Given the description of an element on the screen output the (x, y) to click on. 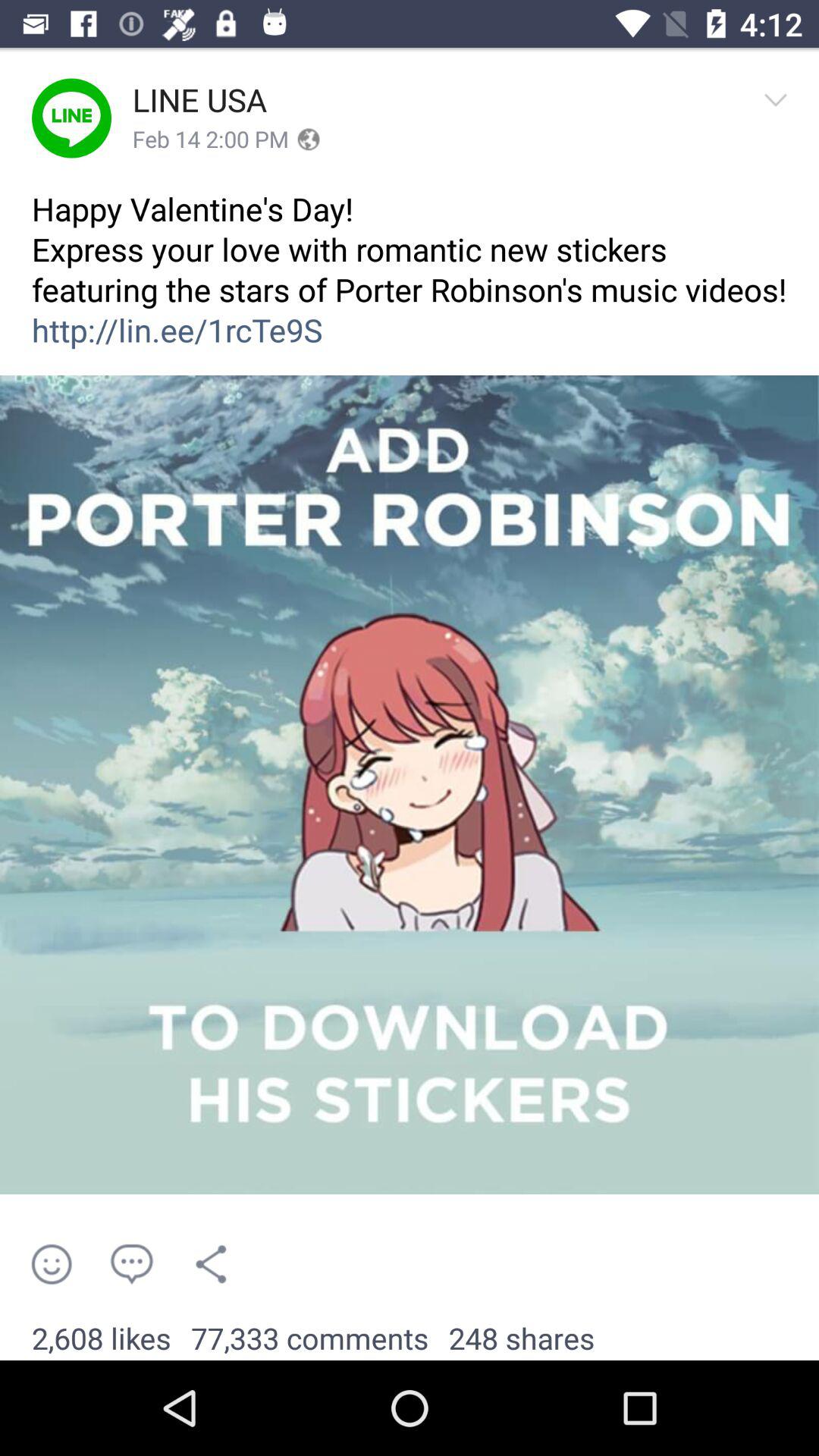
launch item to the right of the feb 14 2 icon (307, 139)
